Given the description of an element on the screen output the (x, y) to click on. 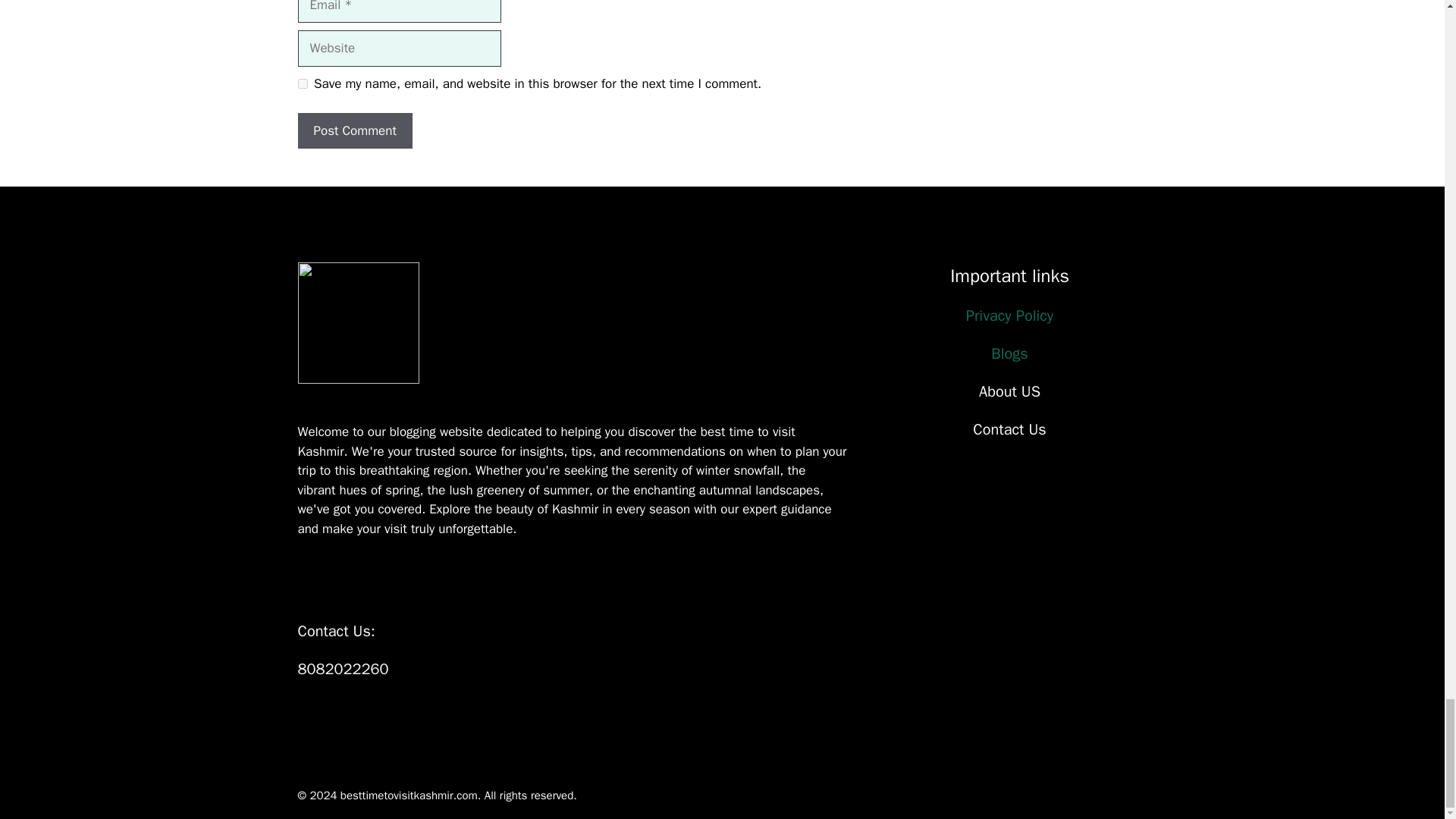
Post Comment (354, 131)
Contact Us (1008, 429)
Blogs (1009, 353)
Post Comment (354, 131)
Privacy Policy (1009, 315)
About US (1009, 391)
yes (302, 83)
